Given the description of an element on the screen output the (x, y) to click on. 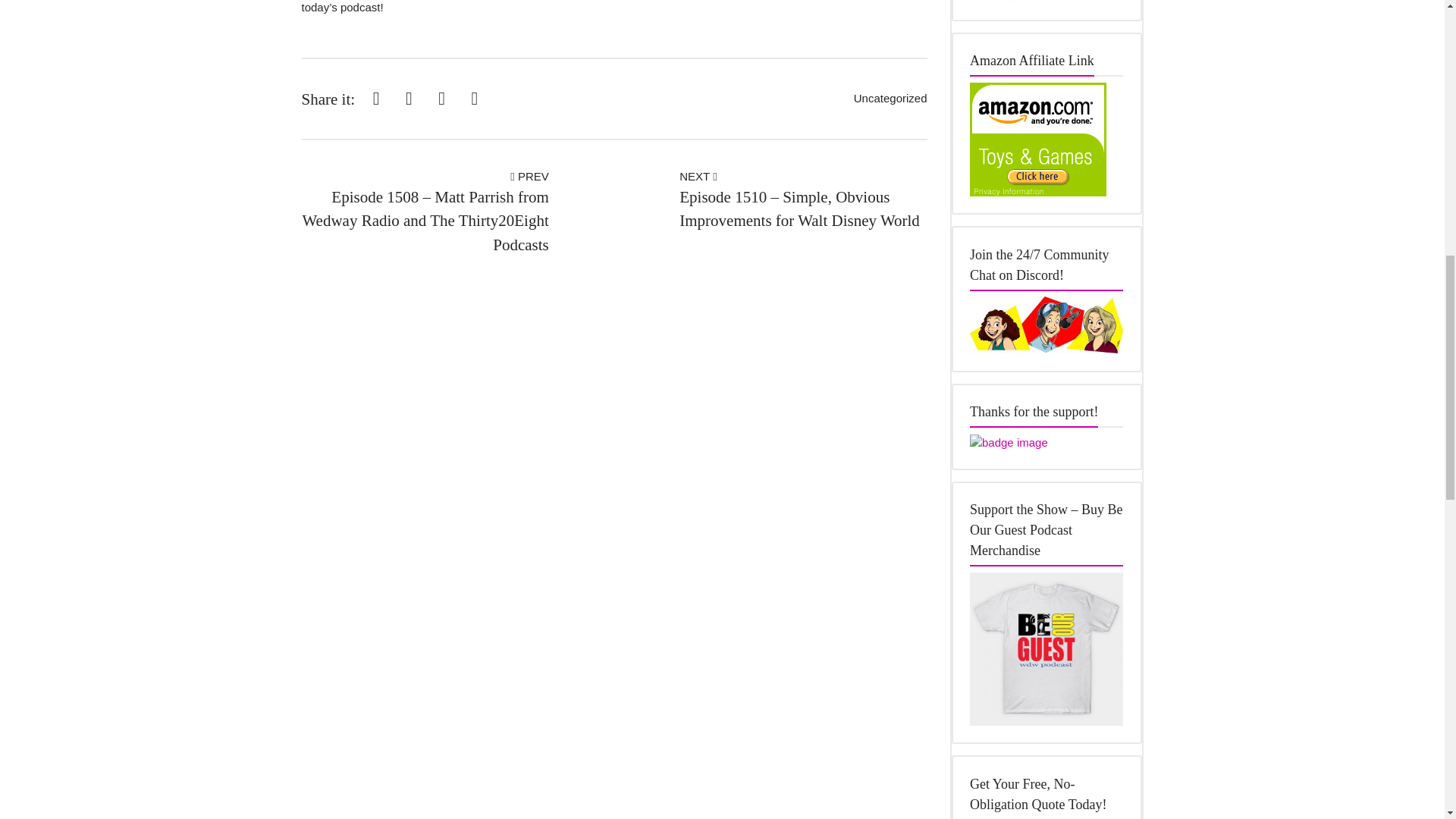
PREV (529, 175)
NEXT (697, 175)
